Given the description of an element on the screen output the (x, y) to click on. 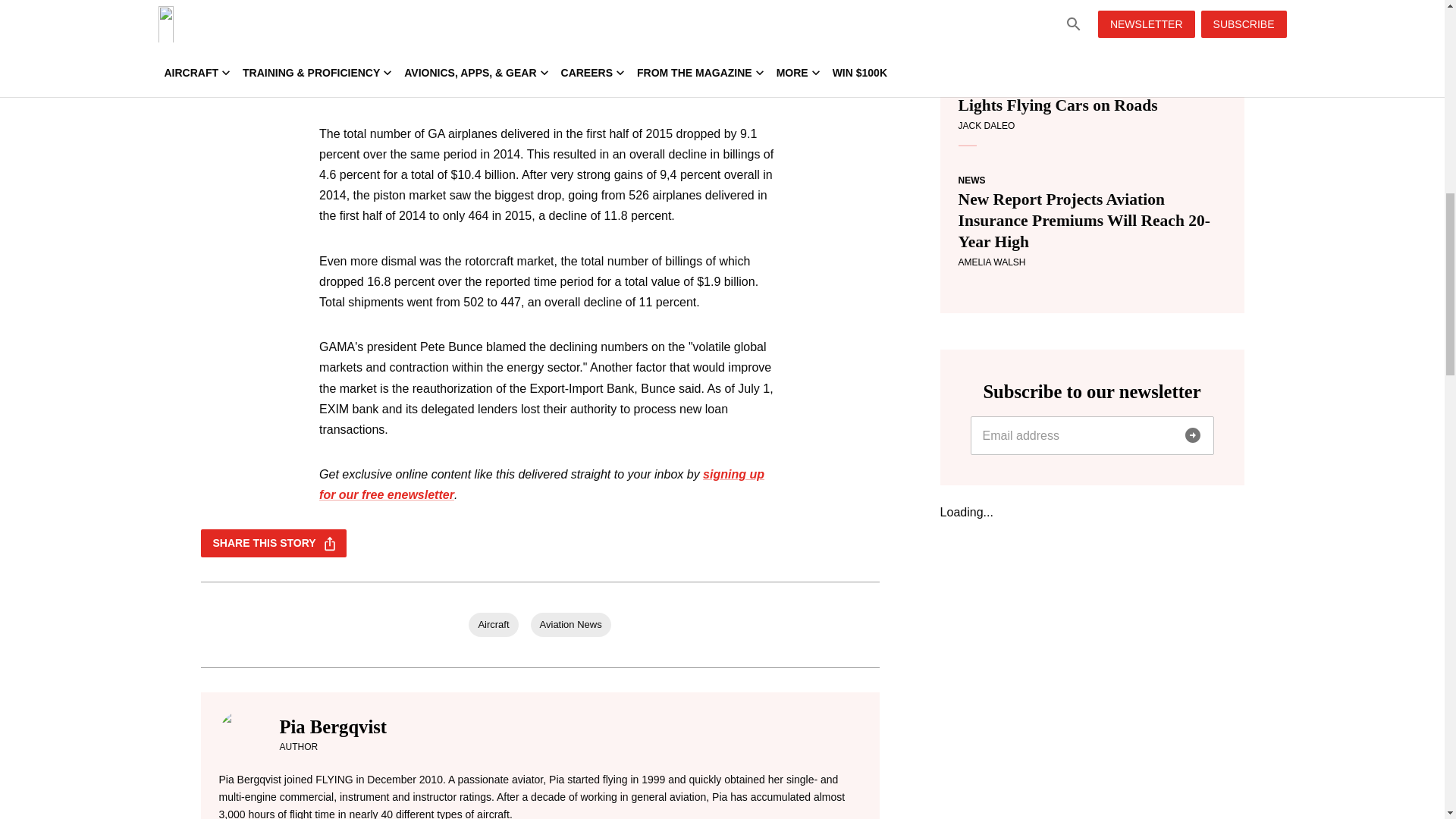
signing up for our free enewsletter (541, 484)
Submit (1191, 435)
NEWS (971, 180)
MODERN FLYING (995, 64)
Aviation News (571, 624)
MEG GODLEWSKI (997, 9)
JACK DALEO (986, 125)
SHARE THIS STORY (273, 543)
Pia Bergqvist (333, 726)
